Given the description of an element on the screen output the (x, y) to click on. 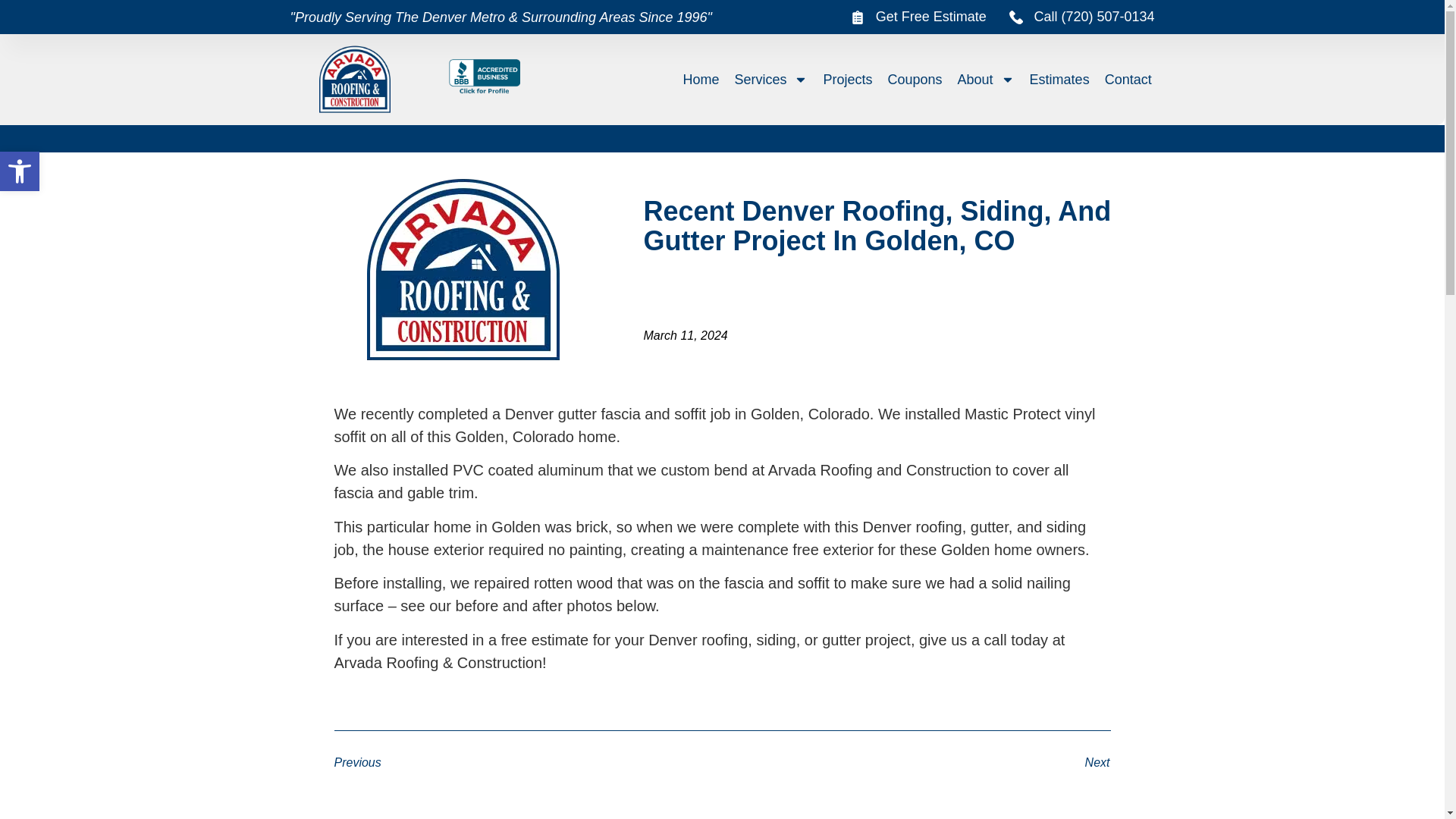
Accessibility Tools (19, 170)
Home (19, 170)
Contact (700, 79)
Estimates (1128, 79)
Projects (1059, 79)
About (847, 79)
Services (986, 79)
Coupons (770, 79)
Accessibility Tools (914, 79)
Get Free Estimate (19, 170)
